Given the description of an element on the screen output the (x, y) to click on. 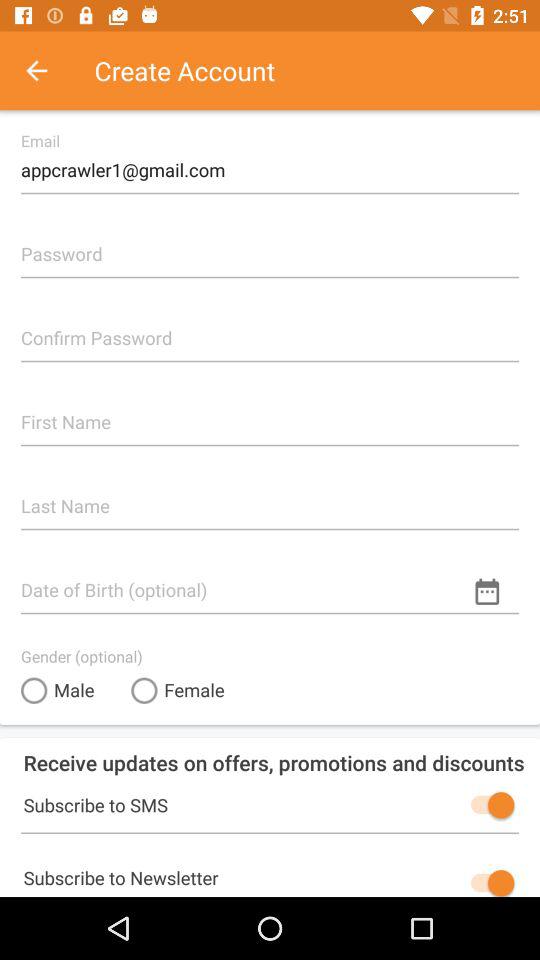
enter password (270, 245)
